Given the description of an element on the screen output the (x, y) to click on. 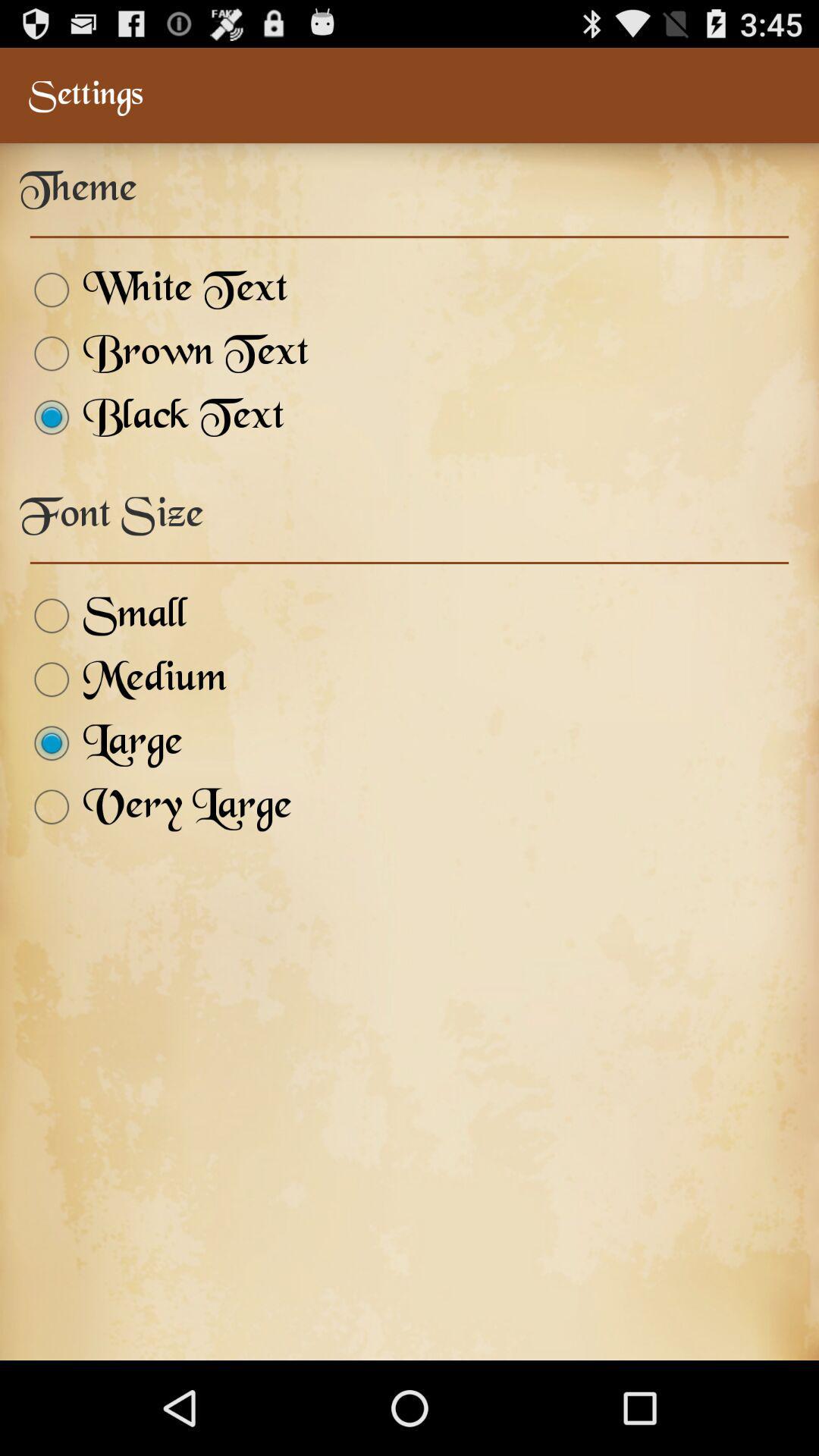
open the white text item (153, 289)
